Given the description of an element on the screen output the (x, y) to click on. 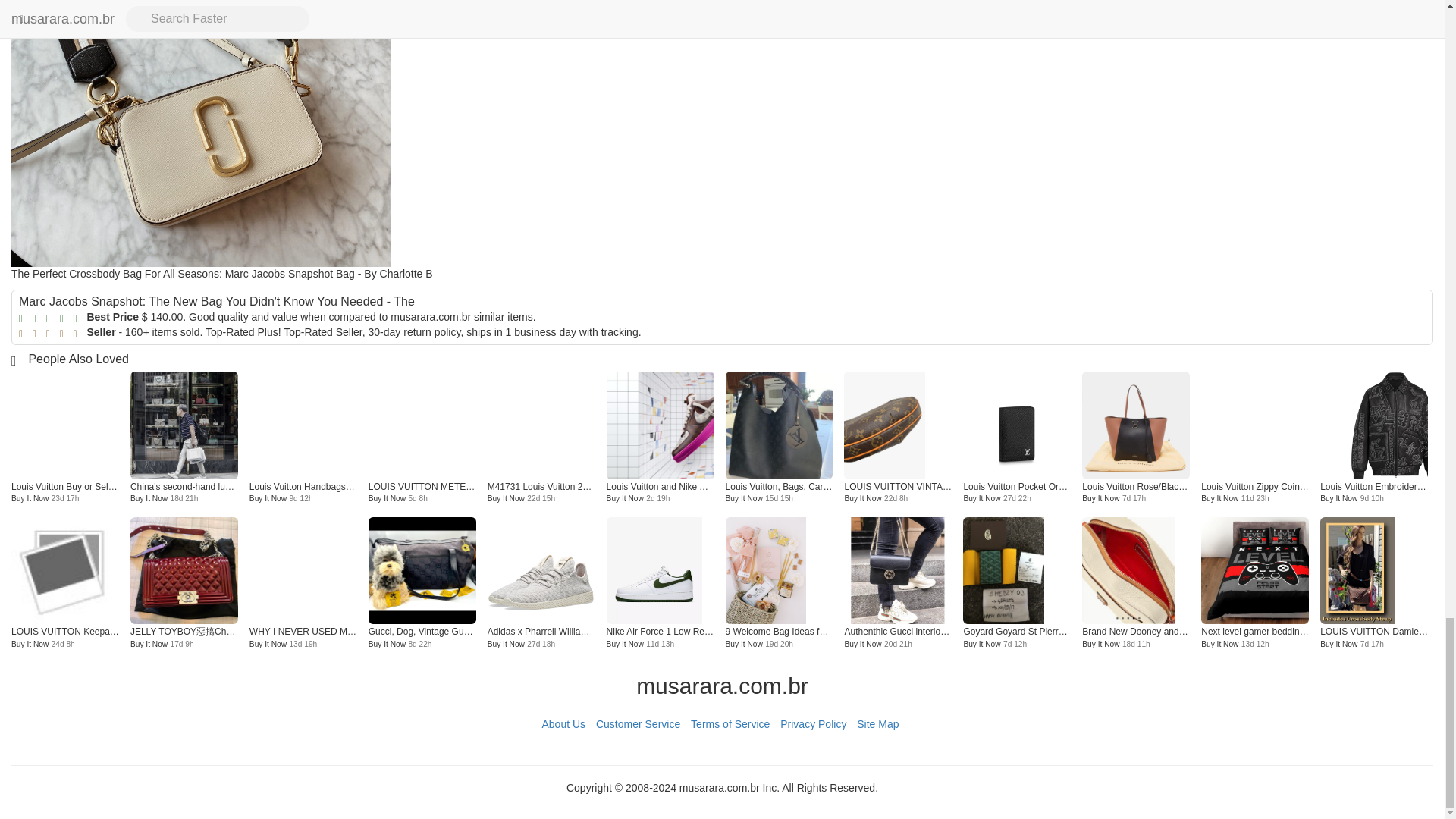
LOUIS VUITTON METEORE FRAGRANCE REVIEW (422, 487)
Louis Vuitton, Bags, Carmel Mahina Noir Louis Vuitton Bag (778, 431)
About Us (563, 723)
LOUIS VUITTON VINTAGE CROISSANT PM SHOULDER BAG (898, 487)
Louis Vuitton, Bags, Carmel Mahina Noir Louis Vuitton Bag (778, 425)
Goyard Goyard St Pierre Green Wallet (1016, 577)
